Given the description of an element on the screen output the (x, y) to click on. 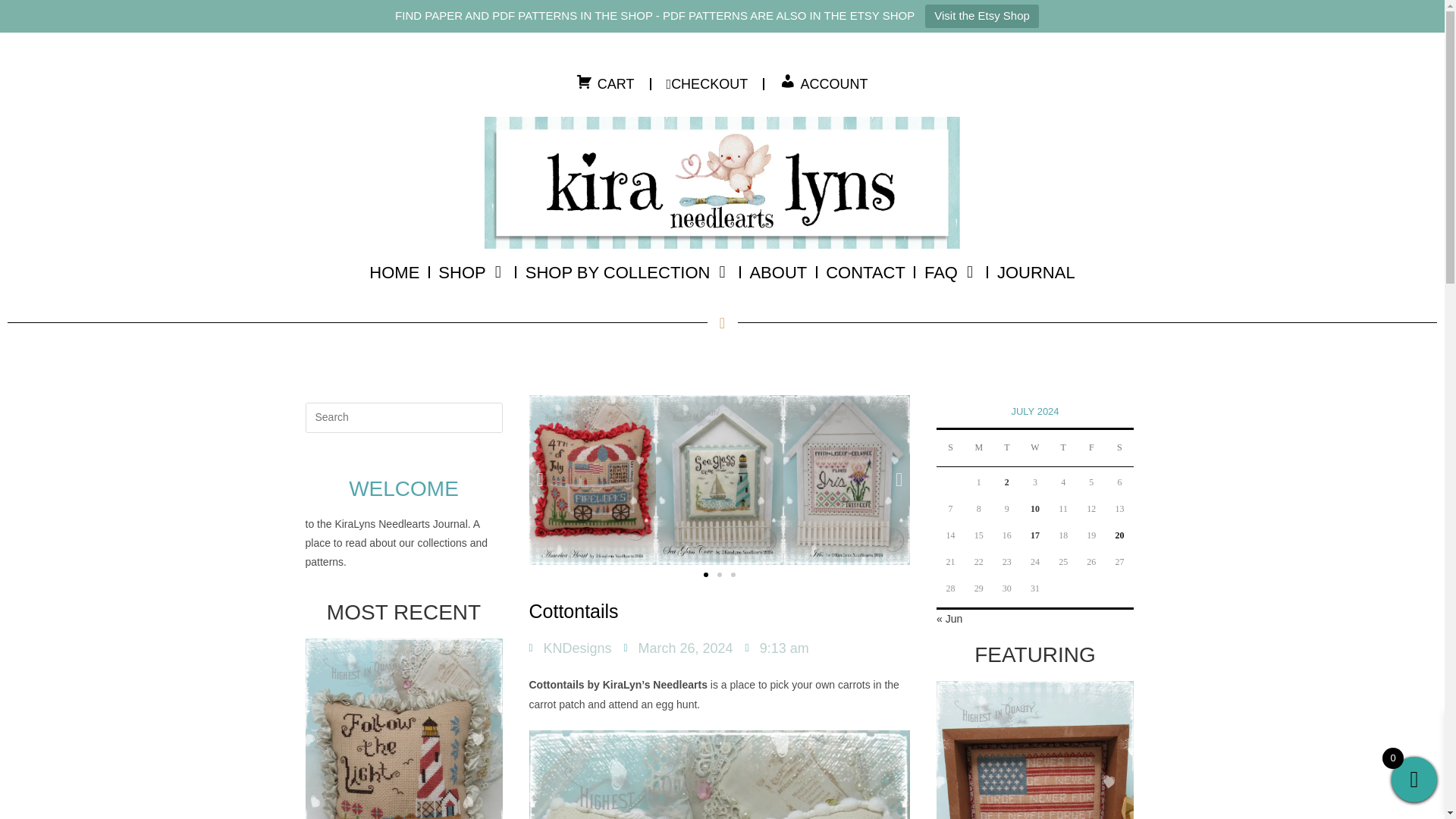
HOME (394, 271)
ACCOUNT (823, 83)
CART (604, 83)
Visit the Etsy Shop (981, 15)
CHECKOUT (706, 83)
